Given the description of an element on the screen output the (x, y) to click on. 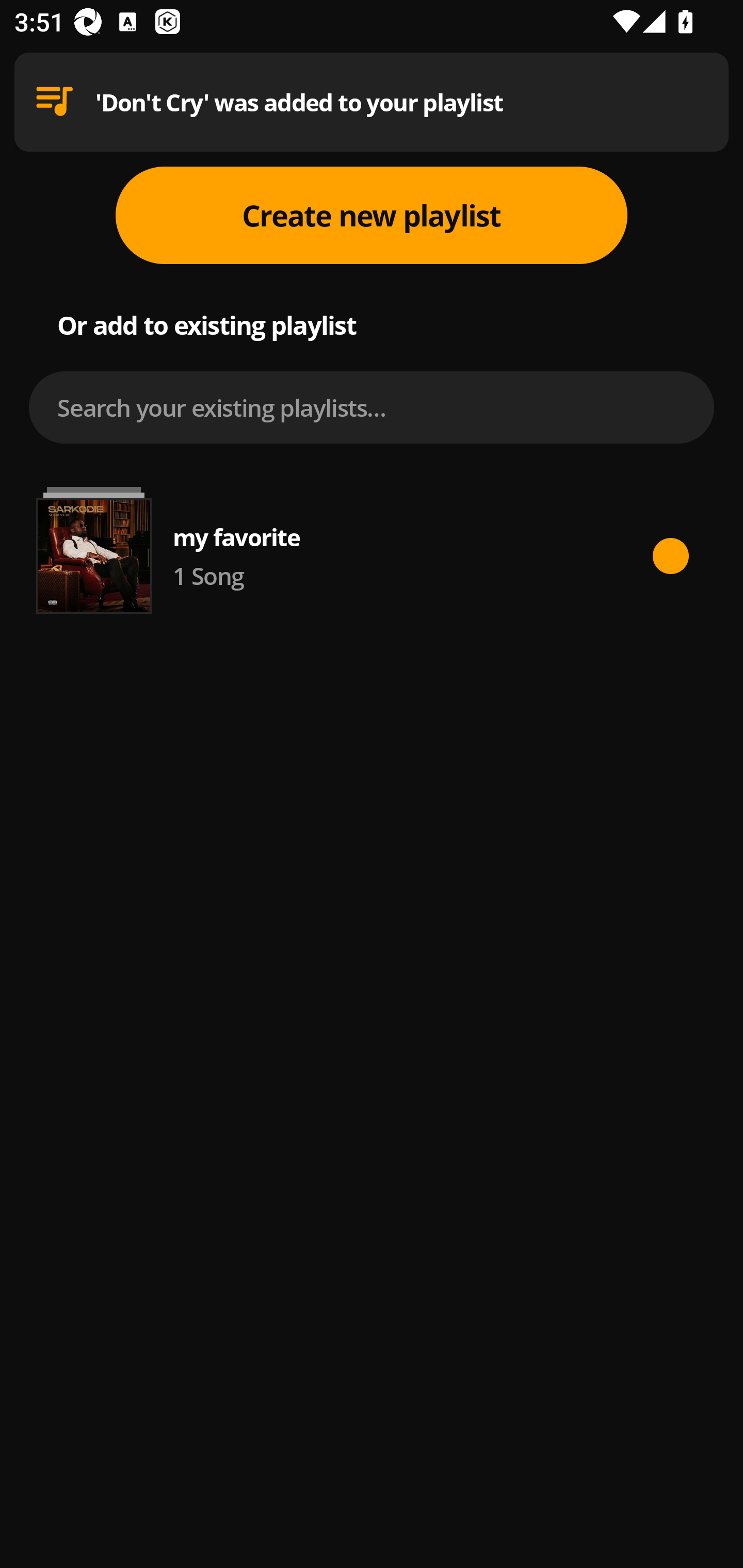
Don't Cry Cancel (371, 82)
Minimise player (49, 93)
Create new playlist (371, 214)
Search your existing playlists… (371, 407)
Song artwork my favorite 1 Song (371, 555)
